Given the description of an element on the screen output the (x, y) to click on. 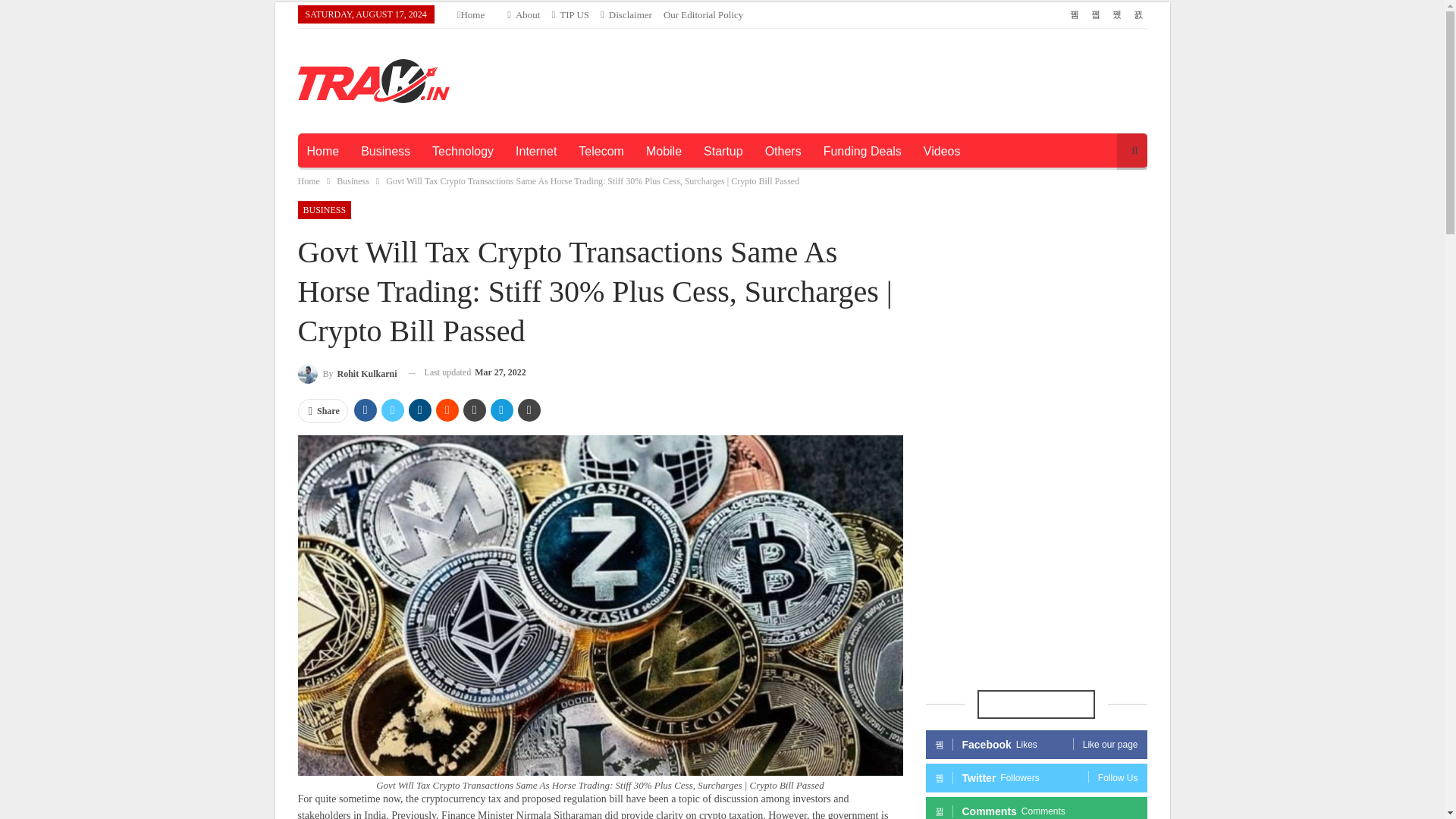
Home (322, 151)
Telecom (601, 151)
Videos (941, 151)
About (523, 14)
TIP US (570, 14)
BUSINESS (323, 209)
Our Editorial Policy (702, 14)
Home (470, 14)
Get in Touch (570, 14)
Startup (723, 151)
